Given the description of an element on the screen output the (x, y) to click on. 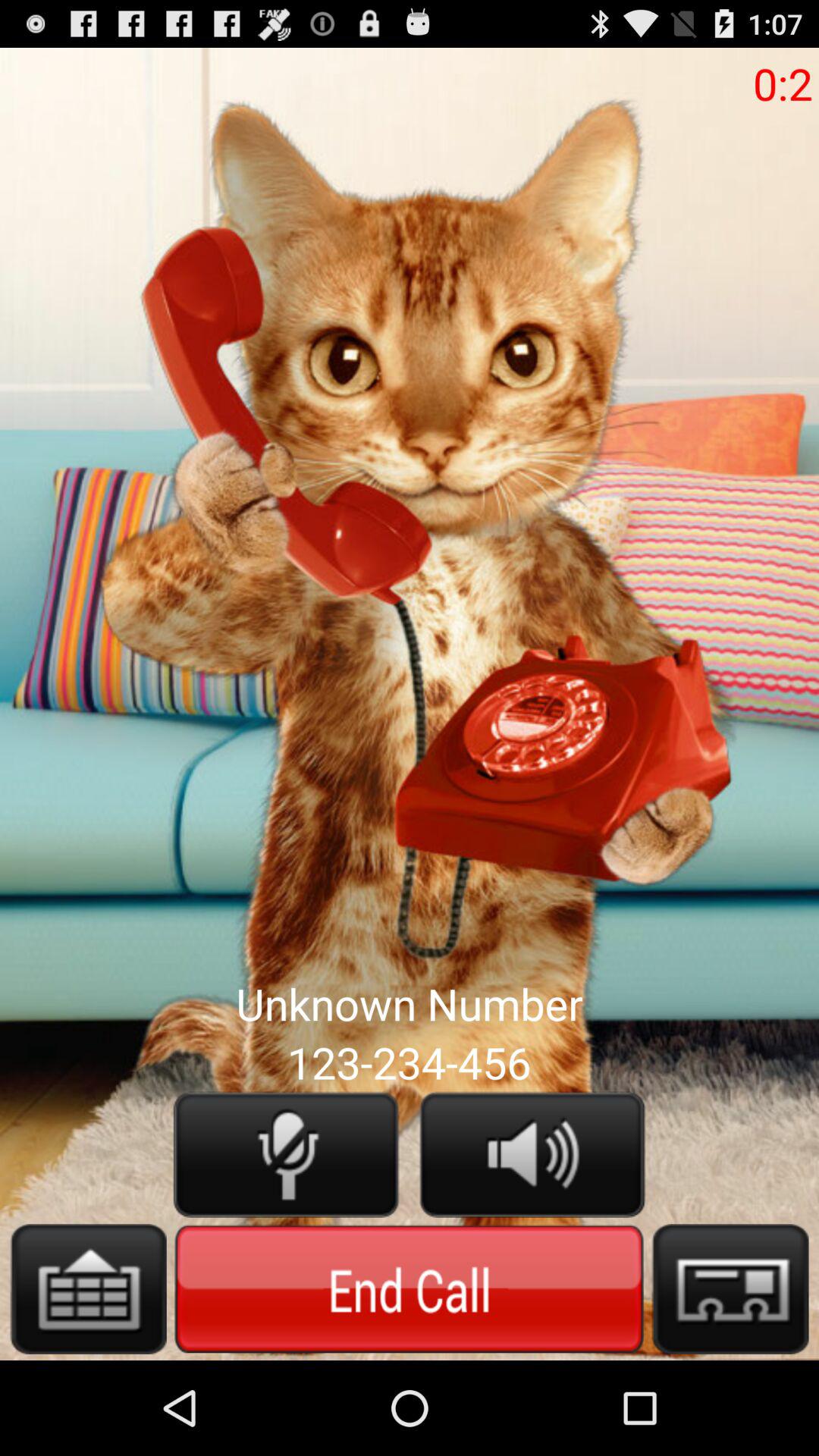
for end call (408, 1288)
